Given the description of an element on the screen output the (x, y) to click on. 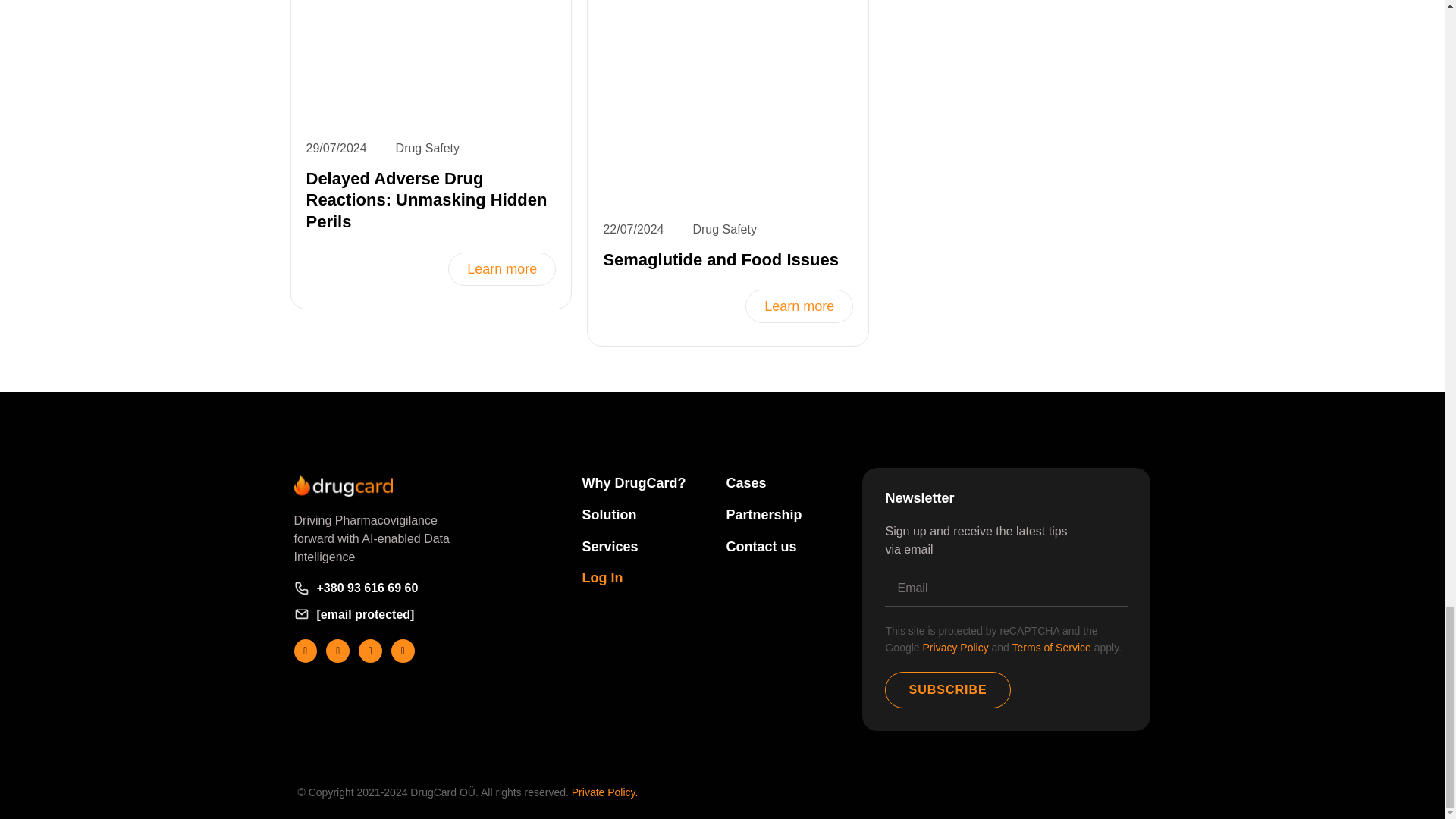
Learn more (502, 268)
Semaglutide and Food Issues (720, 259)
Delayed Adverse Drug Reactions: Unmasking Hidden Perils (426, 199)
Learn more (799, 305)
